Given the description of an element on the screen output the (x, y) to click on. 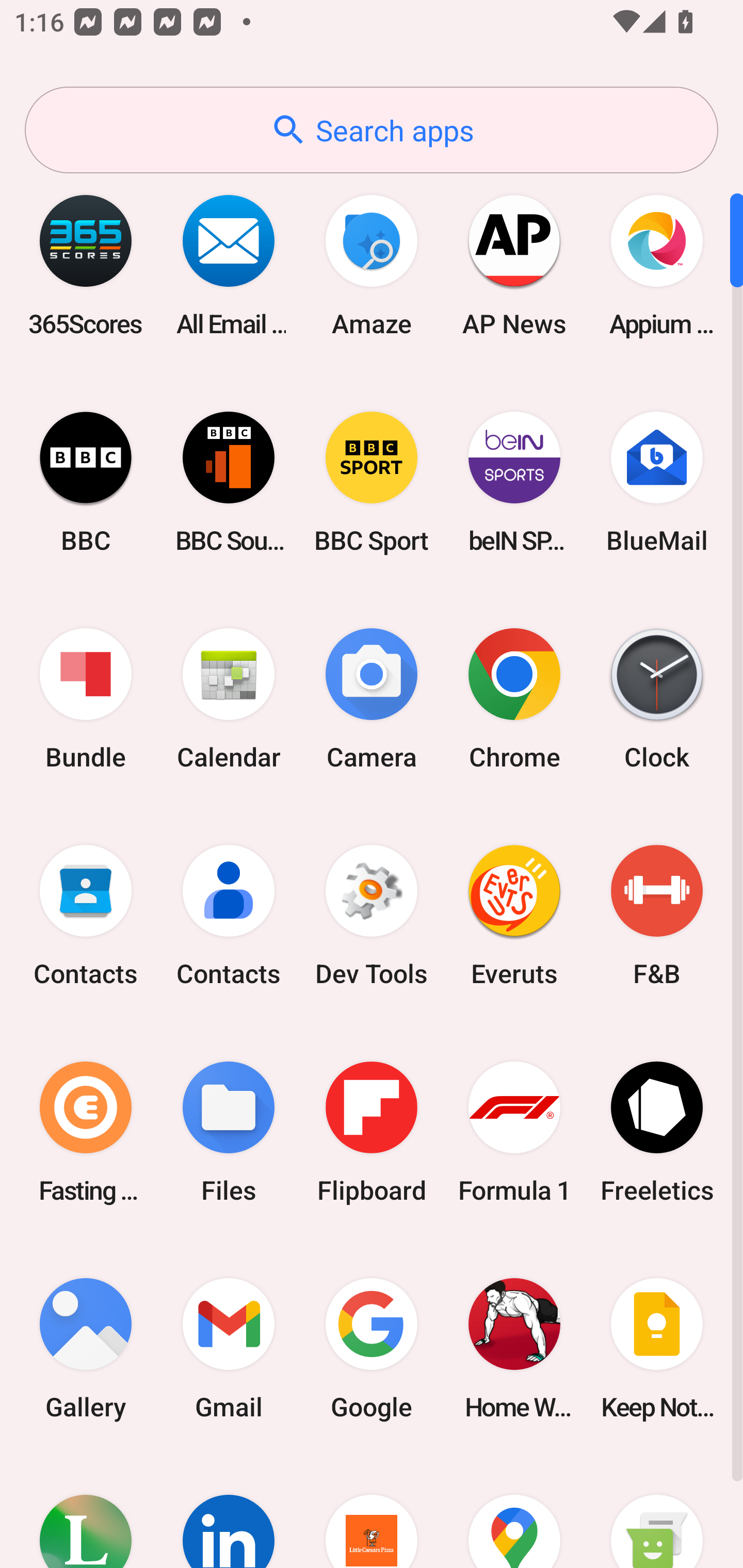
  Search apps (371, 130)
365Scores (85, 264)
All Email Connect (228, 264)
Amaze (371, 264)
AP News (514, 264)
Appium Settings (656, 264)
BBC (85, 482)
BBC Sounds (228, 482)
BBC Sport (371, 482)
beIN SPORTS (514, 482)
BlueMail (656, 482)
Bundle (85, 699)
Calendar (228, 699)
Camera (371, 699)
Chrome (514, 699)
Clock (656, 699)
Contacts (85, 915)
Contacts (228, 915)
Dev Tools (371, 915)
Everuts (514, 915)
F&B (656, 915)
Fasting Coach (85, 1131)
Files (228, 1131)
Flipboard (371, 1131)
Formula 1 (514, 1131)
Freeletics (656, 1131)
Gallery (85, 1348)
Gmail (228, 1348)
Google (371, 1348)
Home Workout (514, 1348)
Keep Notes (656, 1348)
Lifesum (85, 1512)
LinkedIn (228, 1512)
Little Caesars Pizza (371, 1512)
Maps (514, 1512)
Messaging (656, 1512)
